Given the description of an element on the screen output the (x, y) to click on. 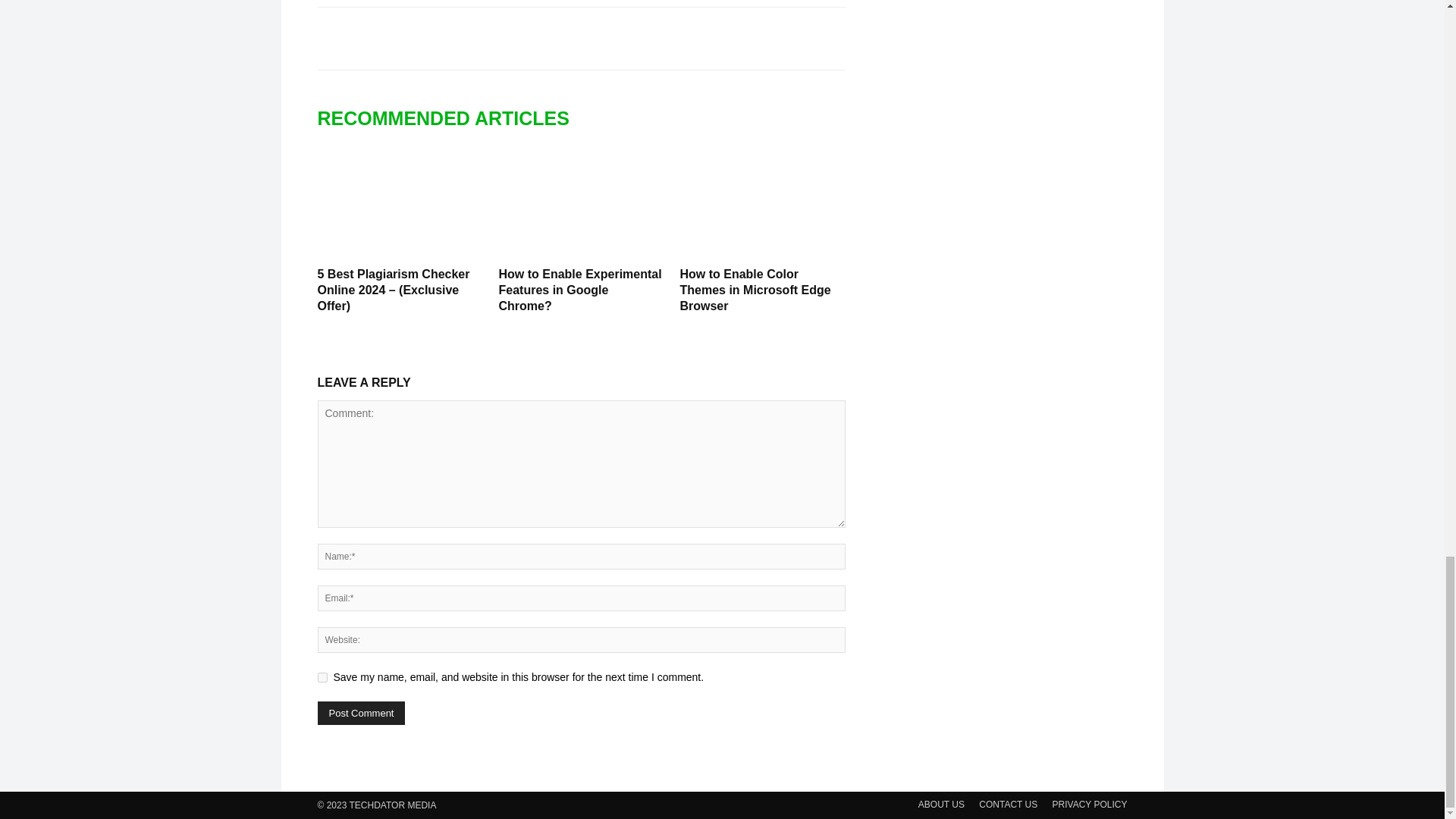
yes (321, 677)
Post Comment (360, 712)
RECOMMENDED ARTICLES (450, 118)
